Given the description of an element on the screen output the (x, y) to click on. 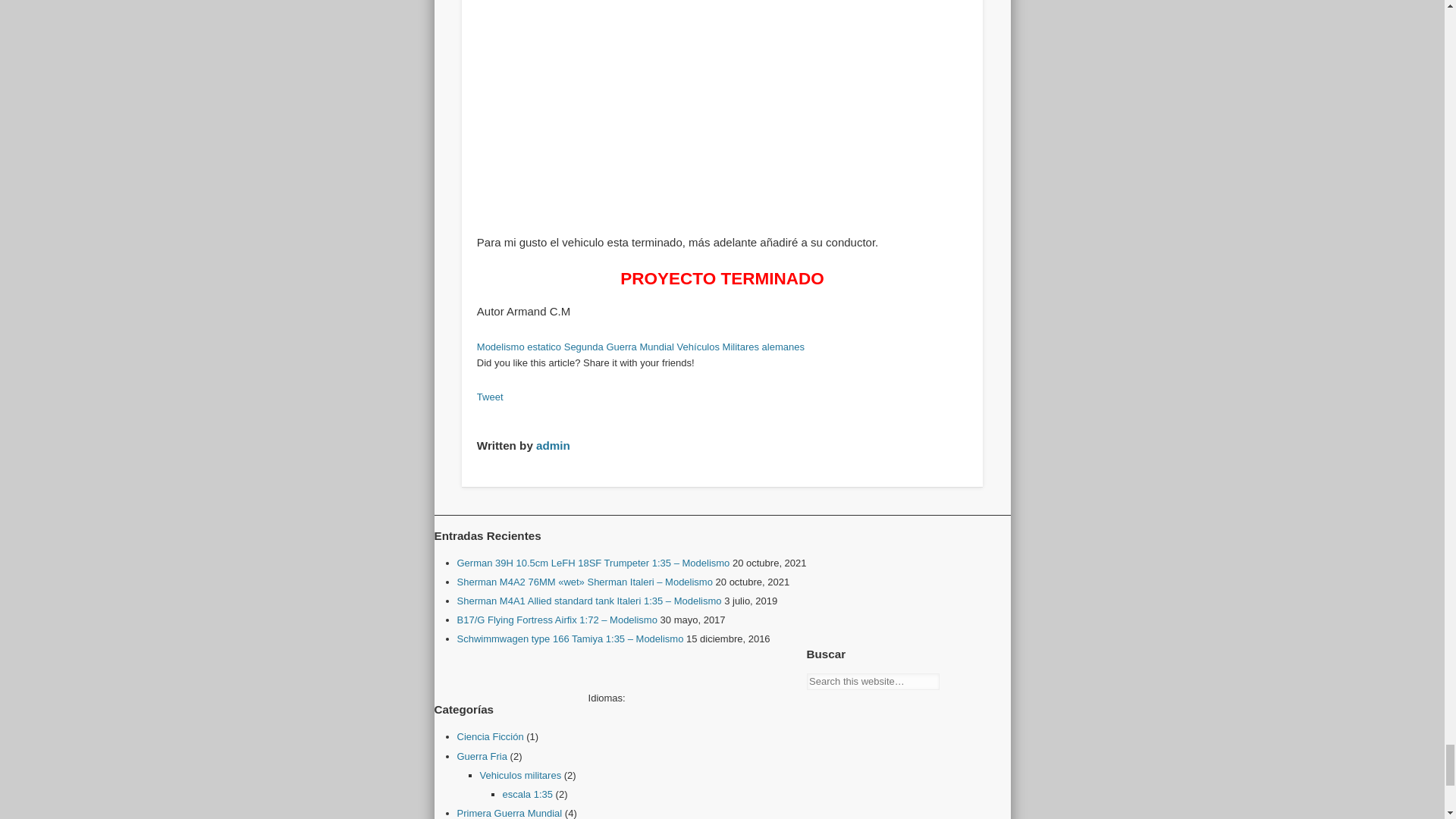
Entradas de admin (552, 444)
Pin It (493, 412)
English (633, 696)
